Given the description of an element on the screen output the (x, y) to click on. 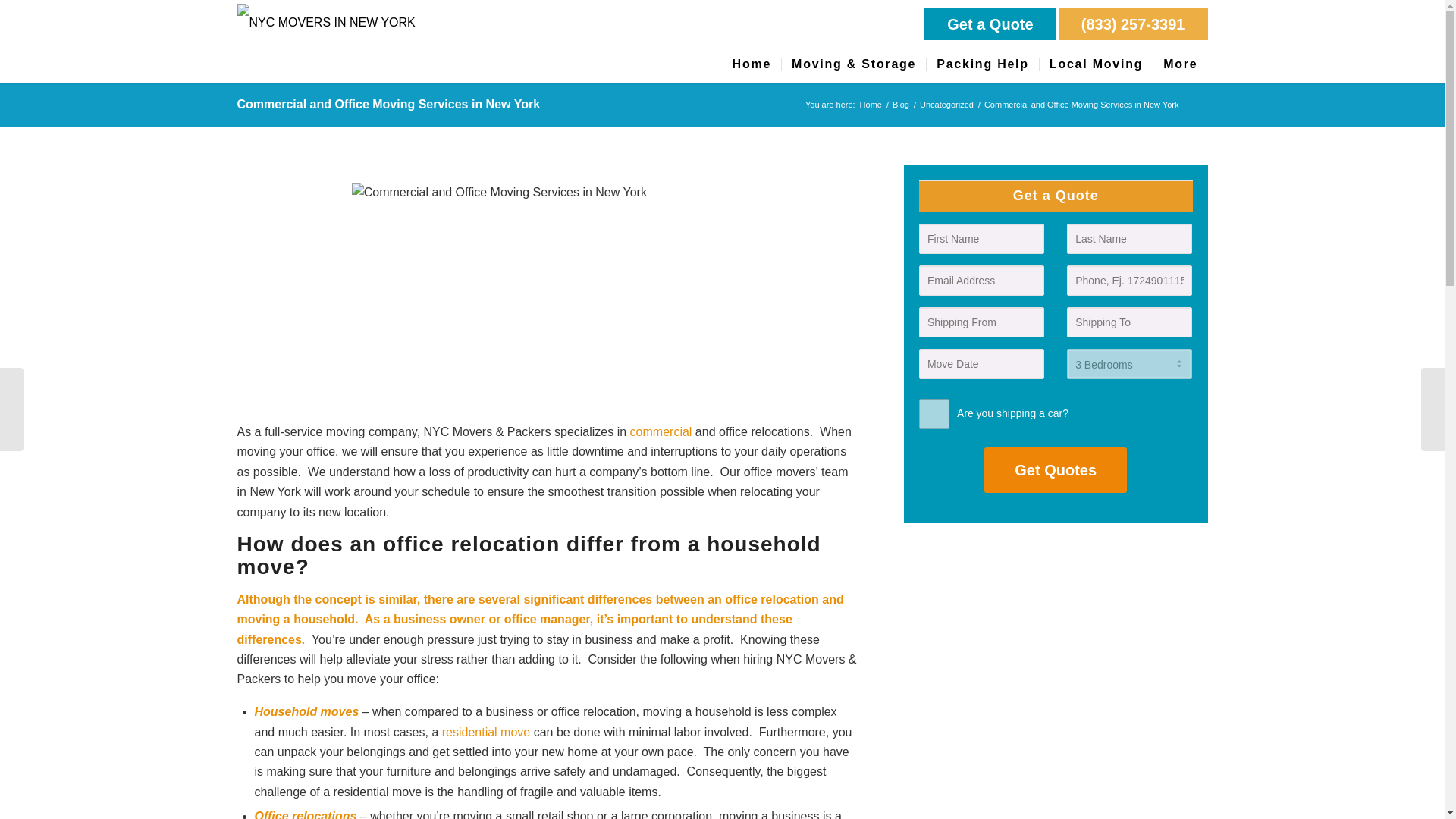
NYC MOVERS IN NEW YORK (870, 104)
Blog (900, 104)
Commercial and Office Moving Services in New York (387, 103)
Home (870, 104)
residential move (486, 731)
Home (751, 64)
More (1180, 64)
Blog (900, 104)
Get Quotes (1055, 470)
